Given the description of an element on the screen output the (x, y) to click on. 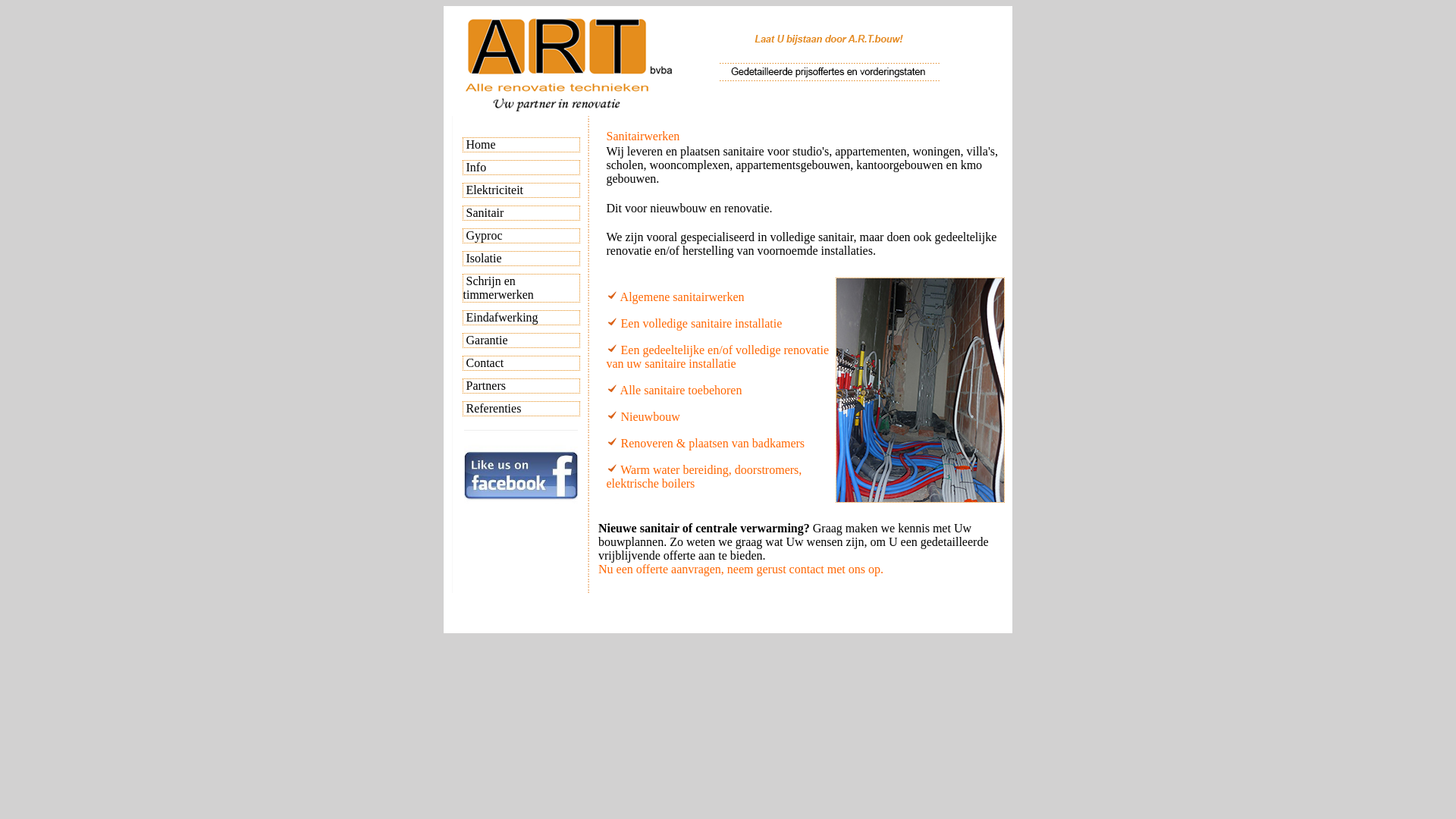
Gyproc Element type: text (483, 235)
Eindafwerking Element type: text (501, 316)
Schrijn en timmerwerken Element type: text (497, 287)
Garantie Element type: text (486, 339)
Info Element type: text (475, 166)
 Sanitair Element type: text (482, 212)
Elektriciteit Element type: text (494, 189)
 Home Element type: text (478, 144)
Partners Element type: text (485, 385)
Isolatie Element type: text (483, 257)
Referenties Element type: text (492, 407)
Contact Element type: text (484, 362)
